Given the description of an element on the screen output the (x, y) to click on. 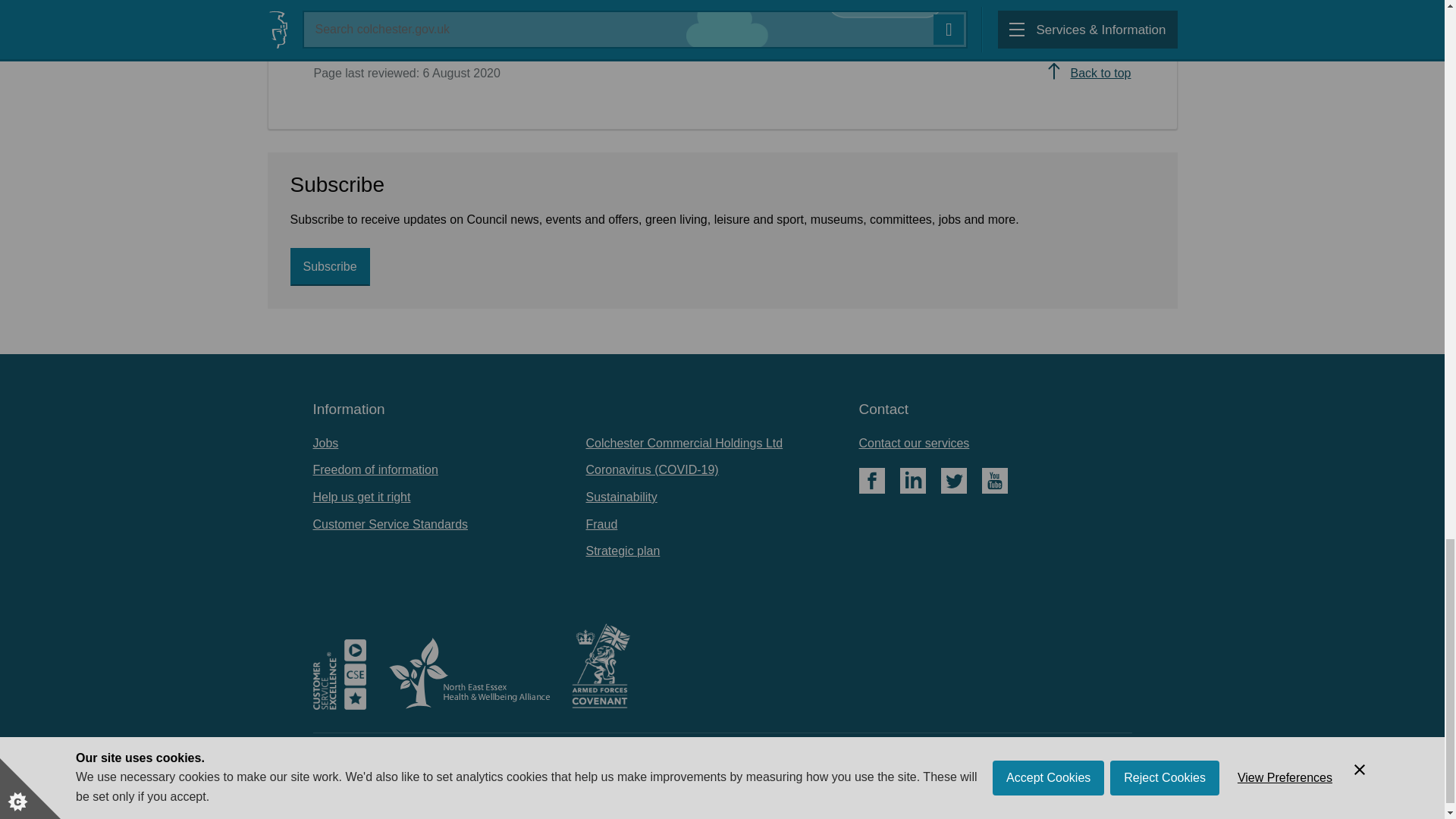
Jobs (325, 442)
Subscribe (329, 266)
Back to top (1088, 73)
Customer Service Standards (390, 523)
Help us get it right (361, 496)
Colchester Commercial Holdings Ltd (684, 442)
Freedom of information (375, 469)
